Given the description of an element on the screen output the (x, y) to click on. 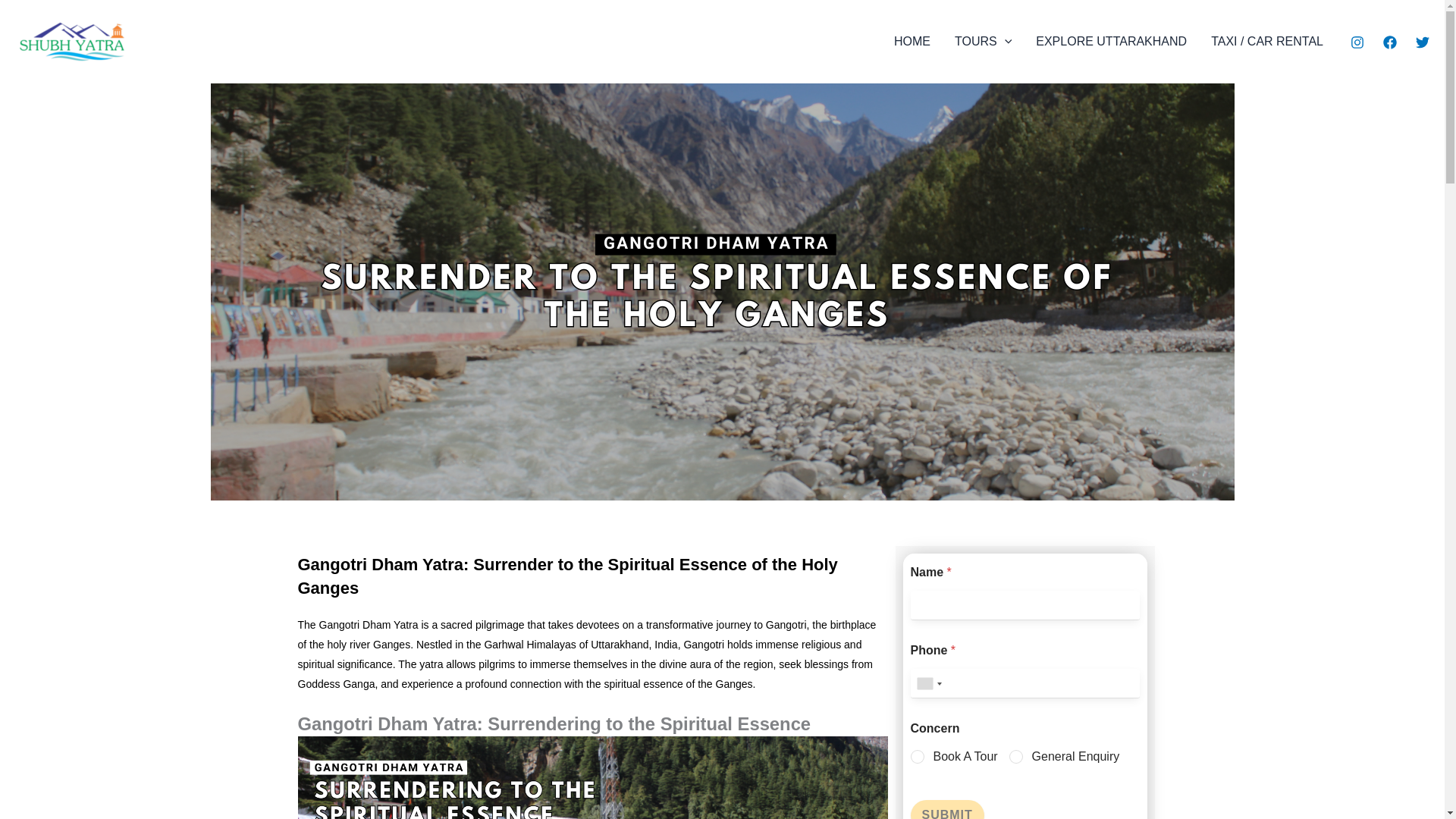
EXPLORE UTTARAKHAND (1110, 41)
SUBMIT (947, 809)
TOURS (982, 41)
General Enquiry (1016, 756)
Book A Tour (917, 756)
